Given the description of an element on the screen output the (x, y) to click on. 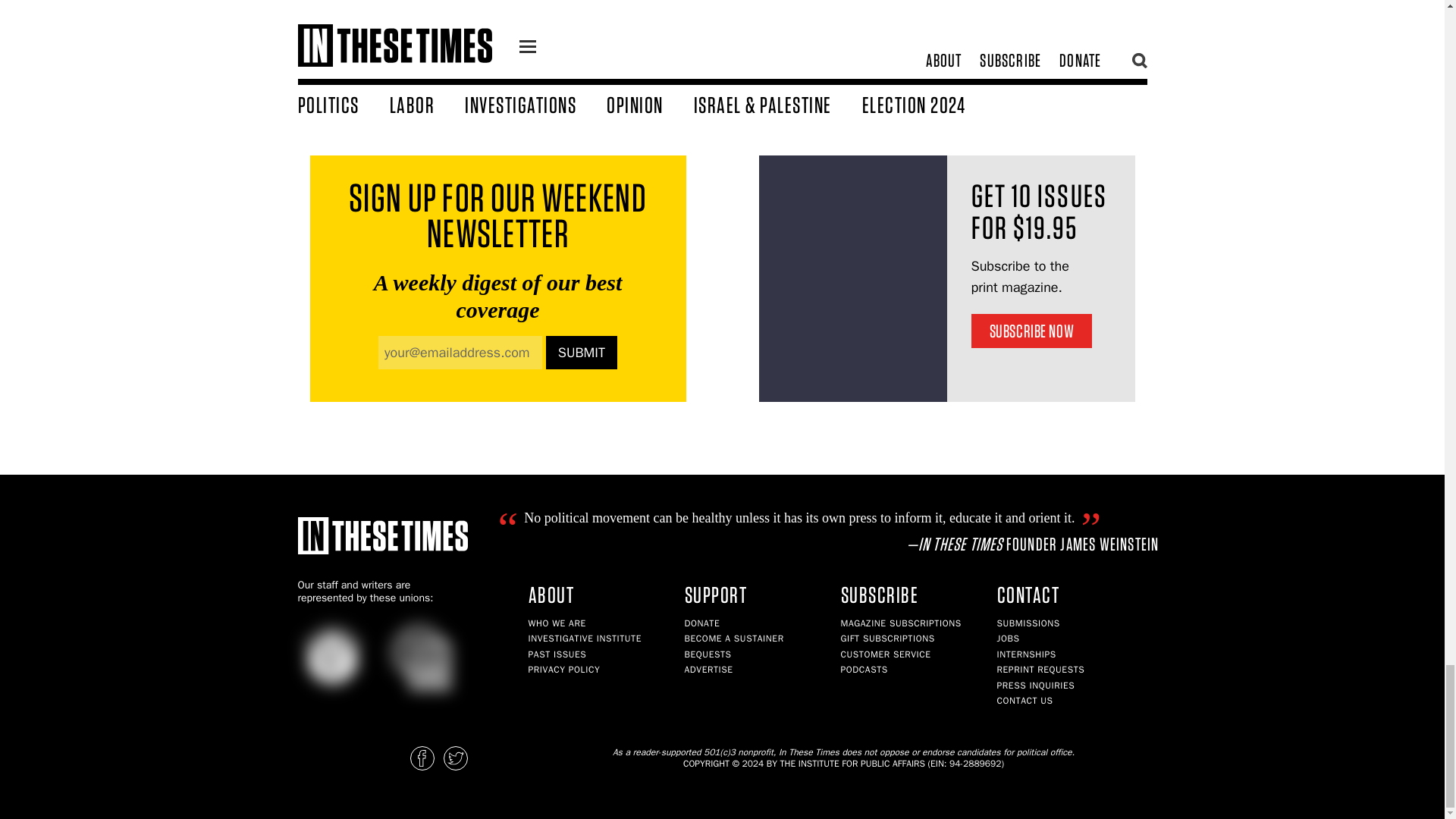
Submit (581, 352)
